Given the description of an element on the screen output the (x, y) to click on. 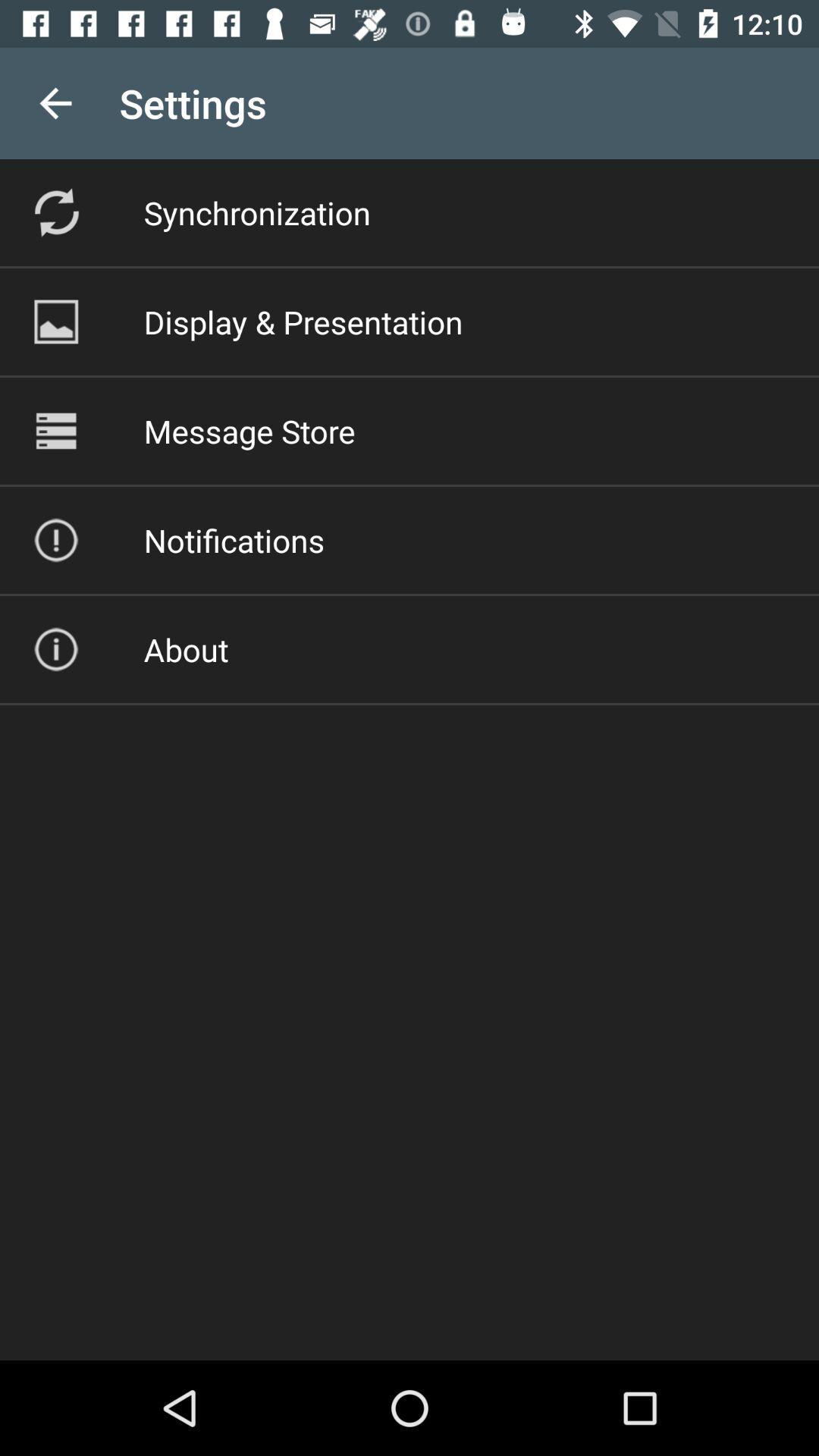
launch the icon above about icon (233, 539)
